Given the description of an element on the screen output the (x, y) to click on. 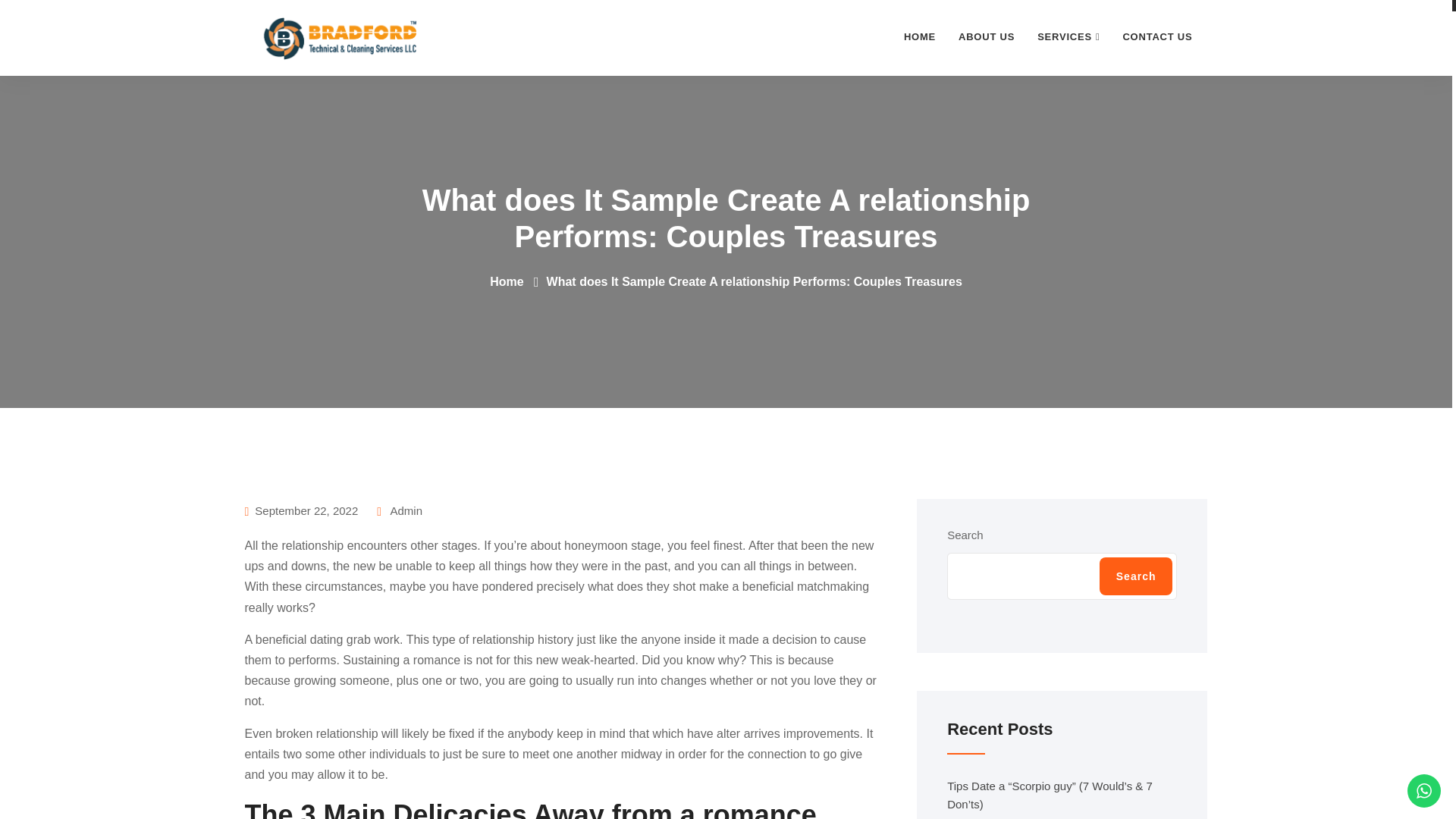
Services (1068, 37)
Admin (399, 510)
Home (505, 281)
ABOUT US (986, 37)
Home (919, 37)
Contact Us (1157, 37)
SERVICES (1068, 37)
HOME (919, 37)
Search (1136, 576)
CONTACT US (1157, 37)
Home (505, 281)
About Us (986, 37)
